Given the description of an element on the screen output the (x, y) to click on. 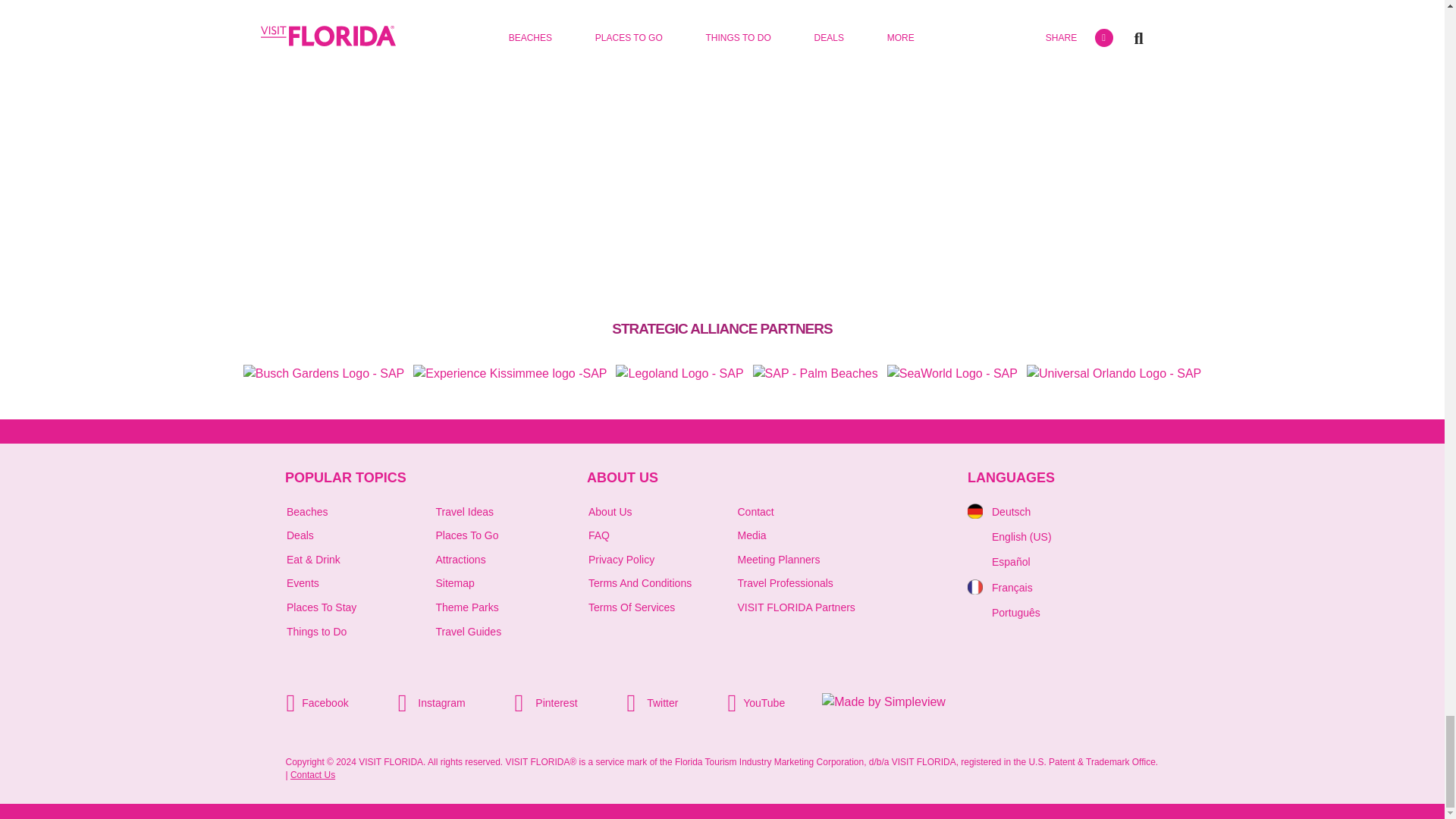
Places To Go (466, 535)
Attractions (459, 559)
Contact (754, 511)
Travel Ideas (464, 511)
Terms And Conditions (639, 582)
Places To Stay (321, 607)
Privacy Policy (620, 559)
Theme Parks (466, 607)
Events (302, 582)
Beaches (306, 511)
